Given the description of an element on the screen output the (x, y) to click on. 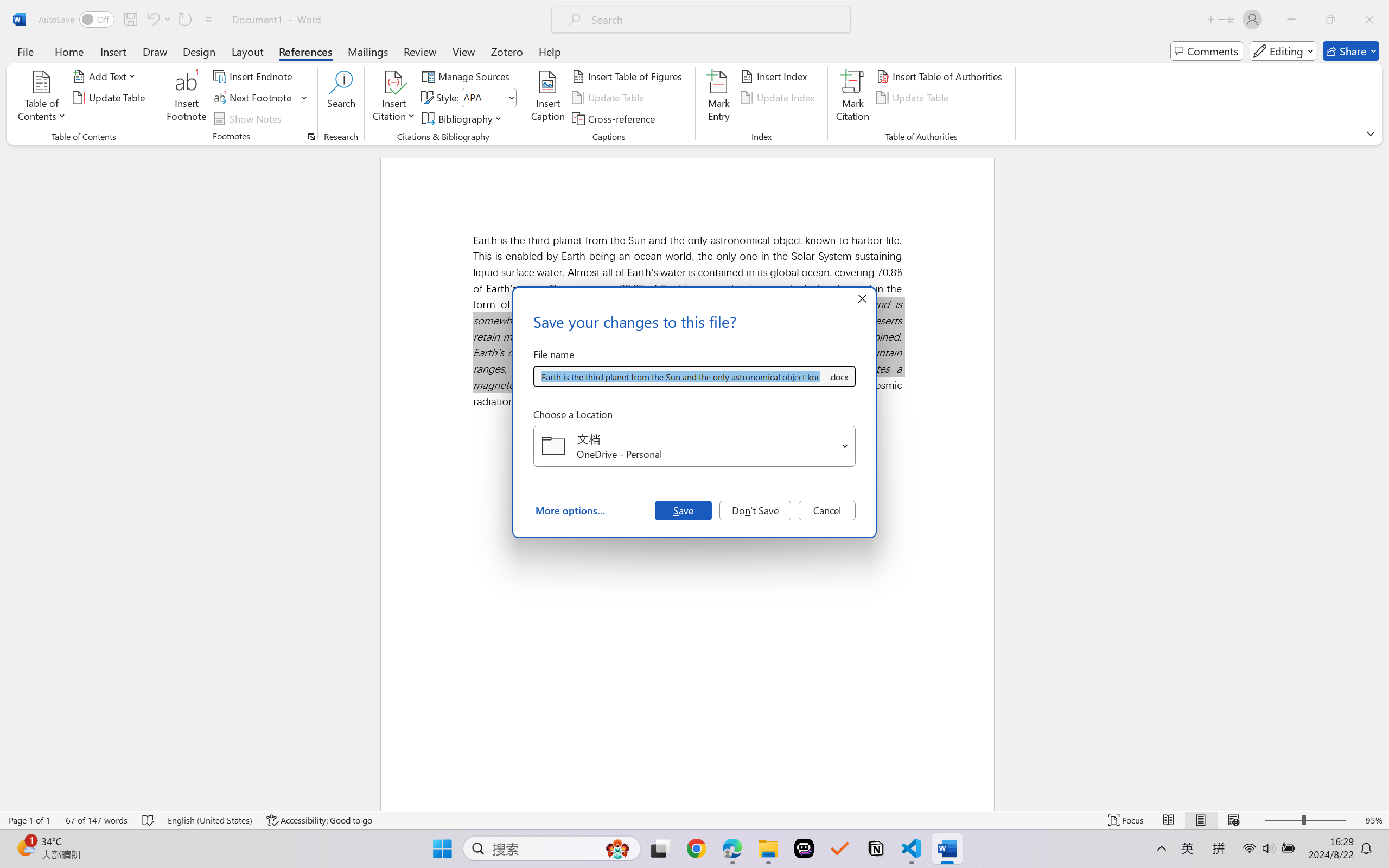
Insert Citation (393, 97)
Class: NetUIScrollBar (1382, 477)
Bibliography (463, 118)
Class: MsoCommandBar (694, 819)
Update Table (914, 97)
Mark Entry... (718, 97)
Choose a Location (694, 446)
Don't Save (755, 509)
